Given the description of an element on the screen output the (x, y) to click on. 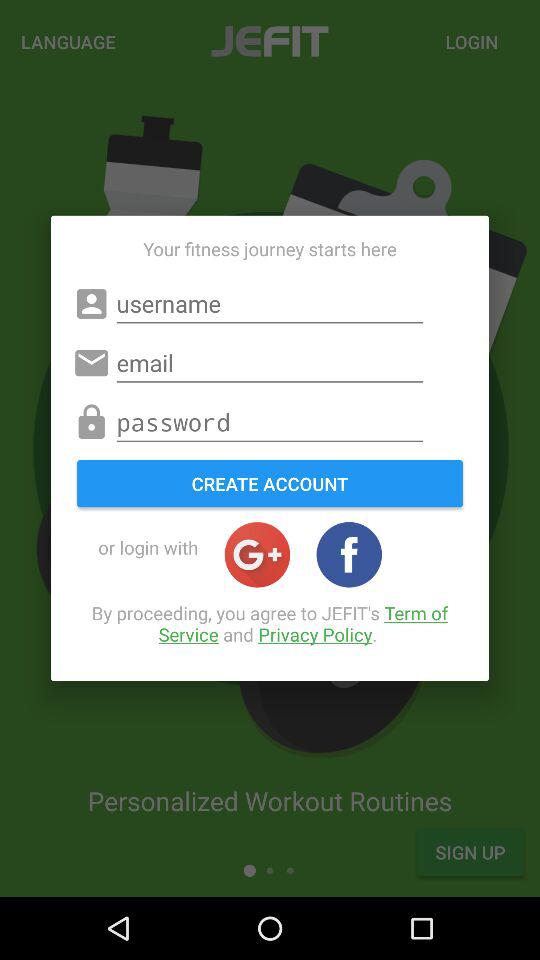
login with facebook (349, 554)
